Given the description of an element on the screen output the (x, y) to click on. 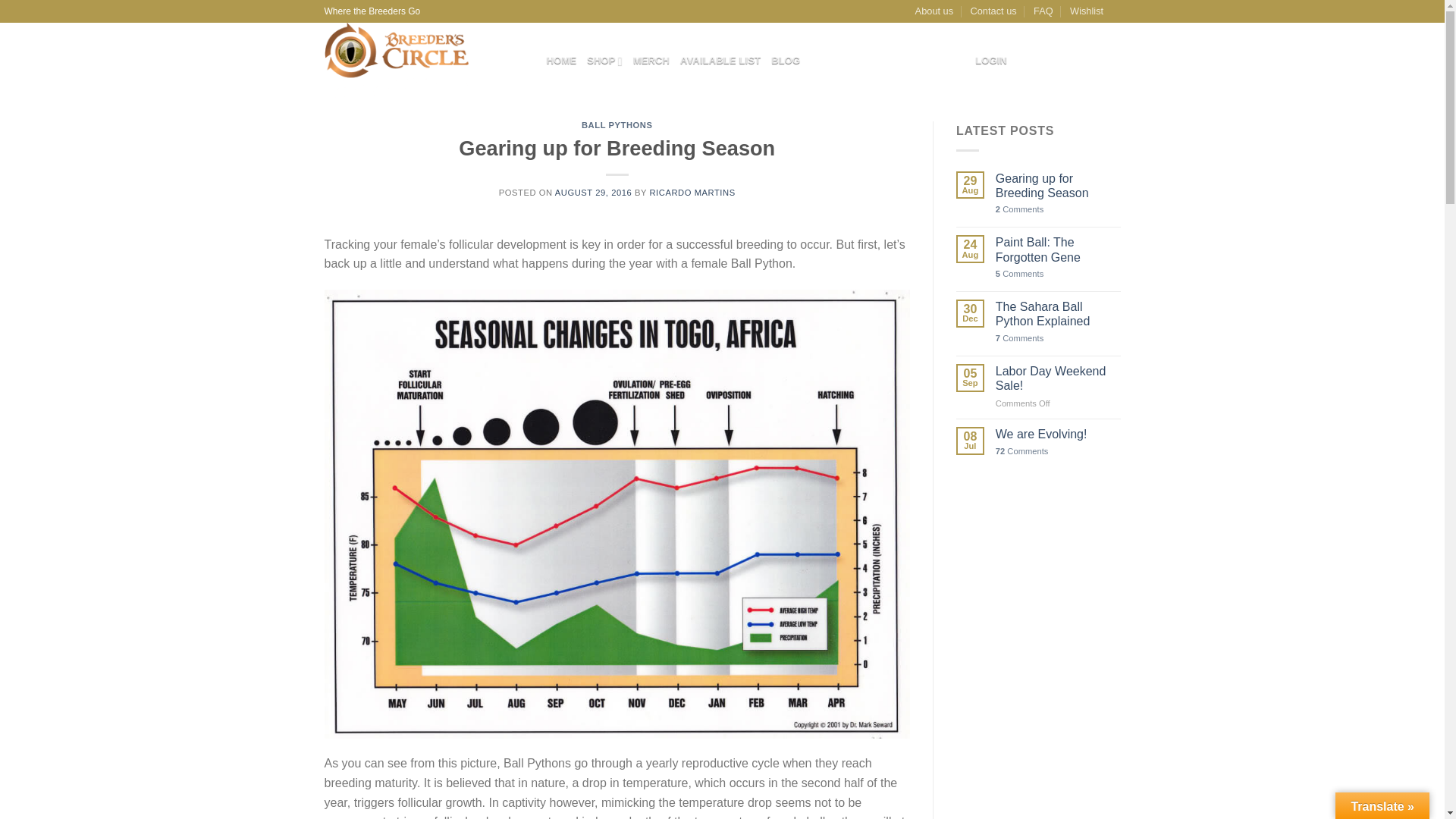
RICARDO MARTINS (692, 192)
Gearing up for Breeding Season (1058, 185)
We are Evolving! (1058, 433)
Labor Day Weekend Sale! (1058, 378)
AVAILABLE LIST (719, 60)
HOME (561, 60)
2 Comments (1058, 209)
SHOP (604, 60)
About us (934, 11)
Cart (1074, 61)
Wishlist (1086, 11)
Gearing up for Breeding Season (1058, 185)
5 Comments (1058, 274)
The Sahara Ball Python Explained (1058, 313)
Paint Ball: The Forgotten Gene (1058, 249)
